Given the description of an element on the screen output the (x, y) to click on. 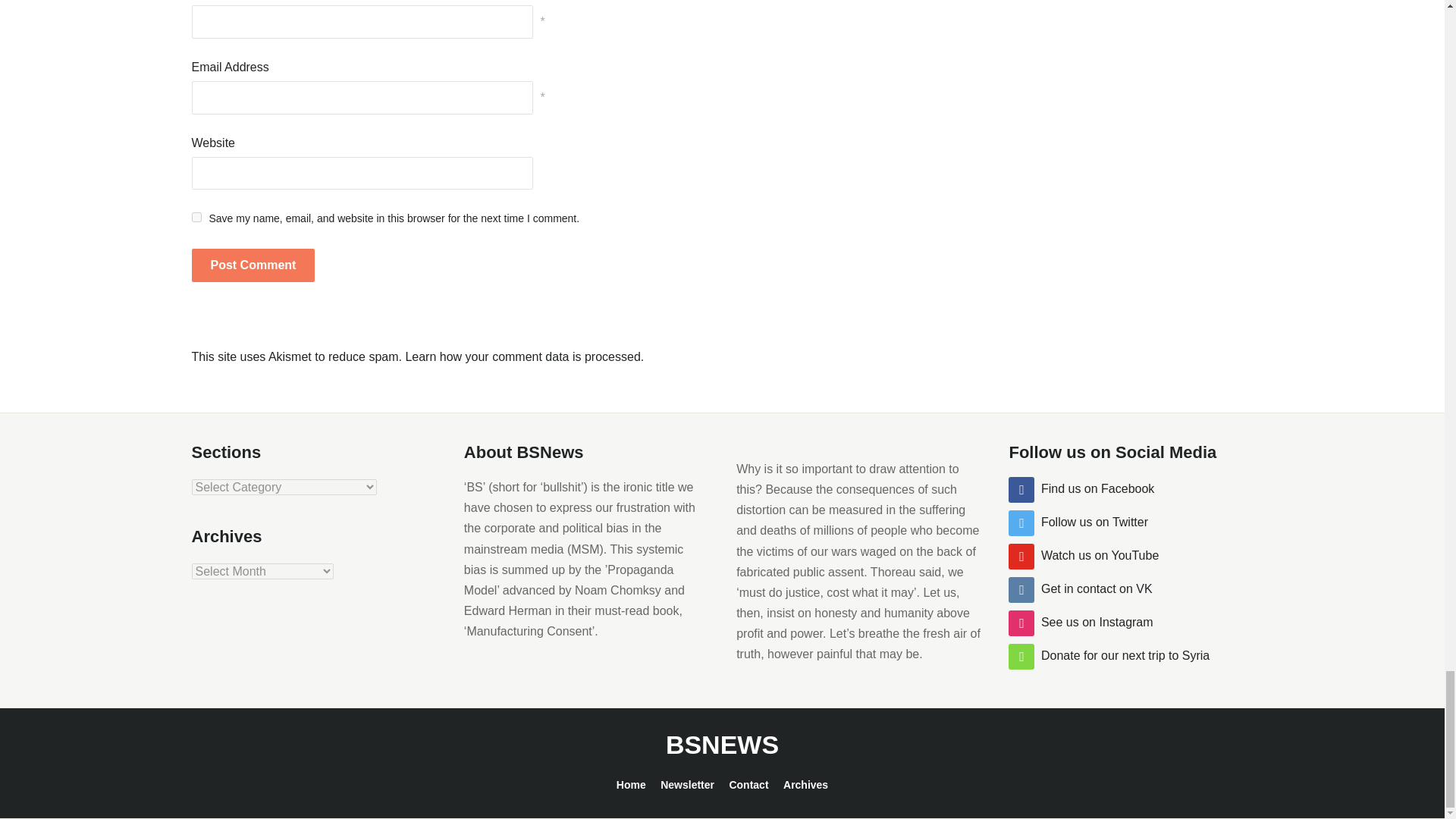
Post Comment (252, 264)
yes (195, 216)
